Given the description of an element on the screen output the (x, y) to click on. 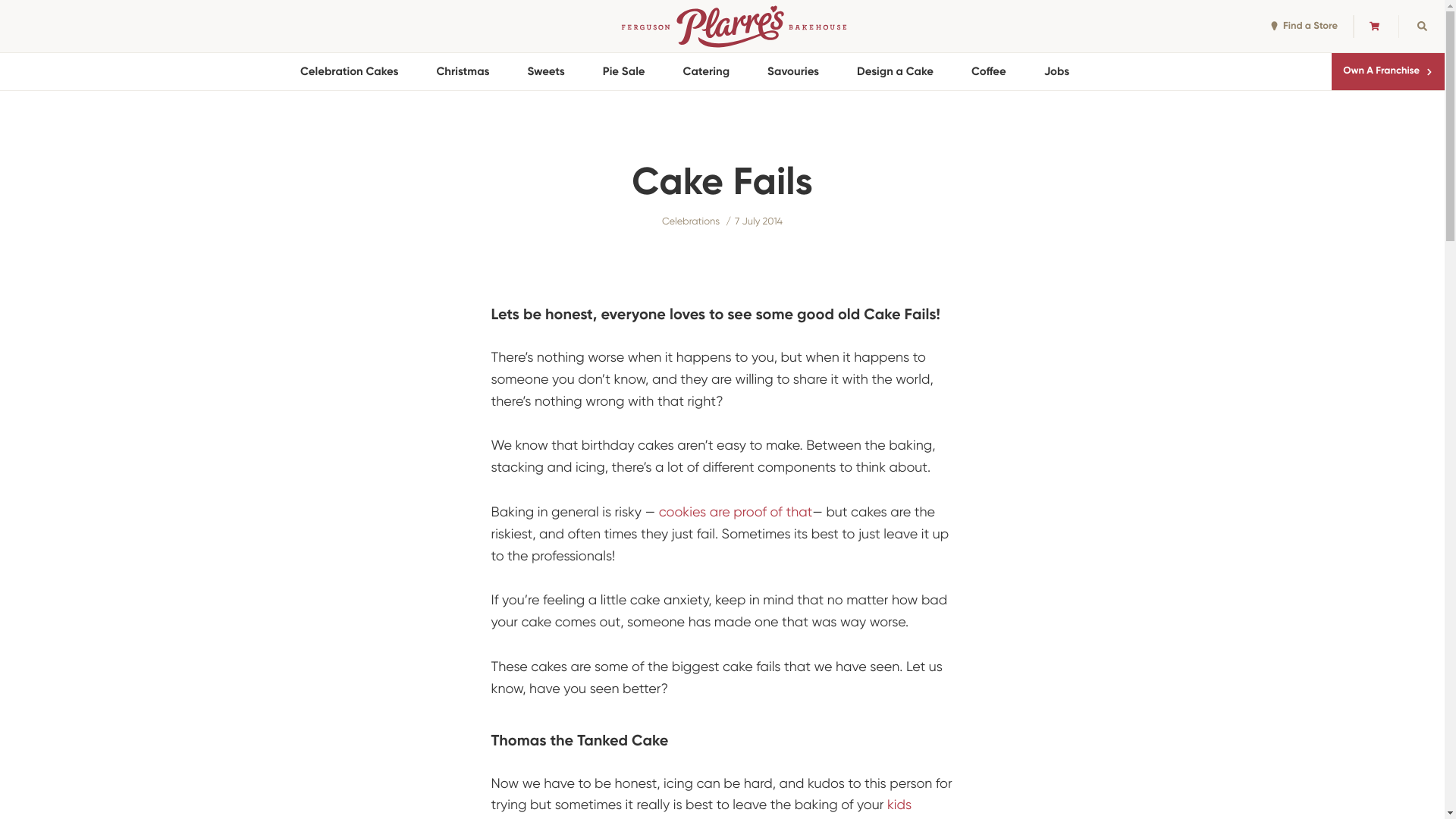
Sweets Element type: text (545, 71)
Coffee Element type: text (988, 71)
Find a Store Element type: text (1303, 26)
Catering Element type: text (706, 71)
menu-location Element type: hover (1274, 26)
cookies are proof of that Element type: text (735, 512)
Search Element type: text (1421, 26)
shopping-cart Element type: hover (1374, 26)
Savouries Element type: text (793, 71)
Own A Franchise Element type: text (1387, 71)
Celebration Cakes Element type: text (349, 71)
chevron-right Element type: hover (1429, 71)
Jobs Element type: text (1057, 71)
Design a Cake Element type: text (894, 71)
Pie Sale Element type: text (623, 71)
Celebrations Element type: text (690, 221)
search Element type: hover (1421, 26)
Christmas Element type: text (462, 71)
CART Element type: text (1376, 26)
